Given the description of an element on the screen output the (x, y) to click on. 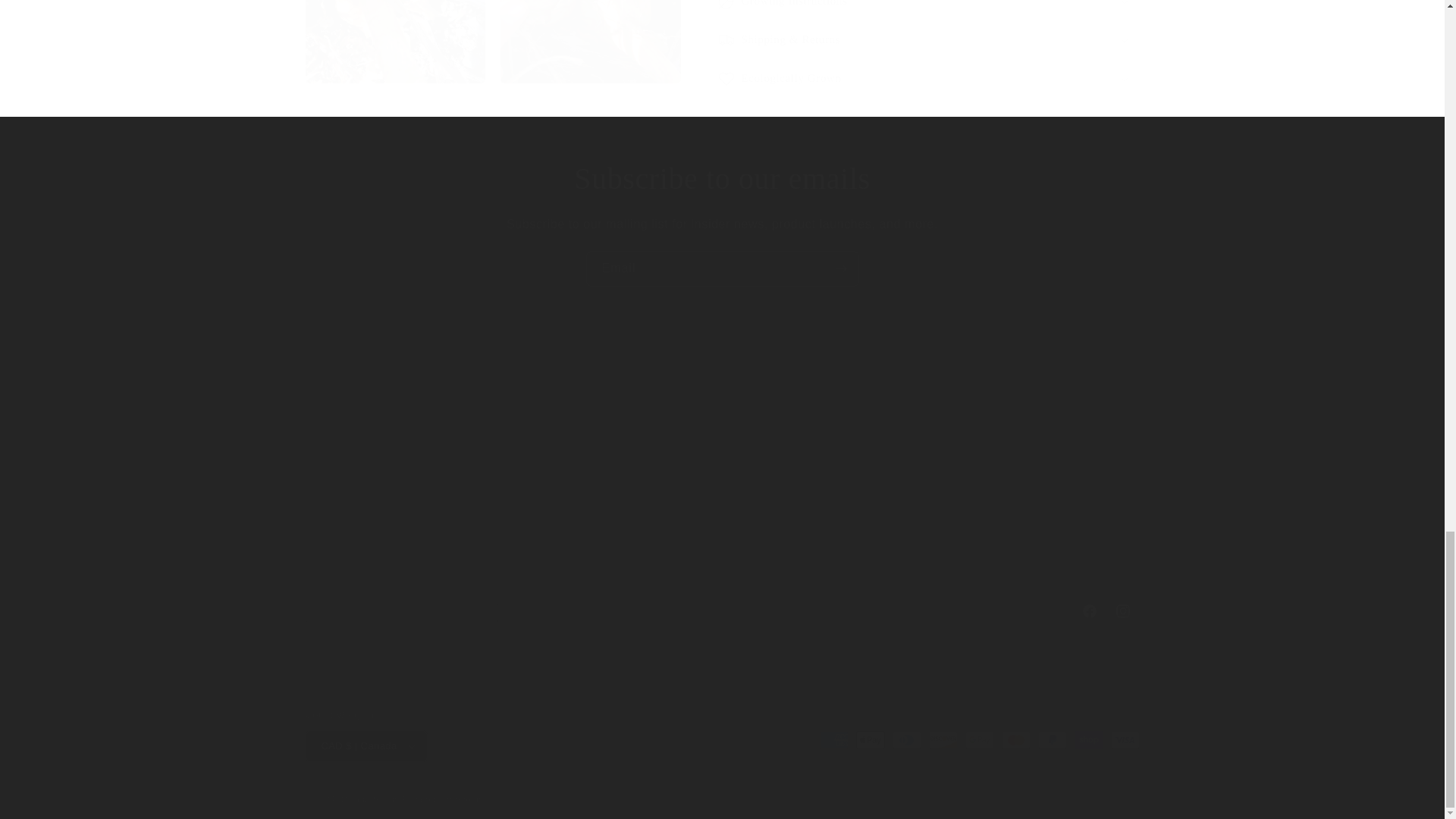
Email (722, 268)
Subscribe to our emails (721, 178)
